Given the description of an element on the screen output the (x, y) to click on. 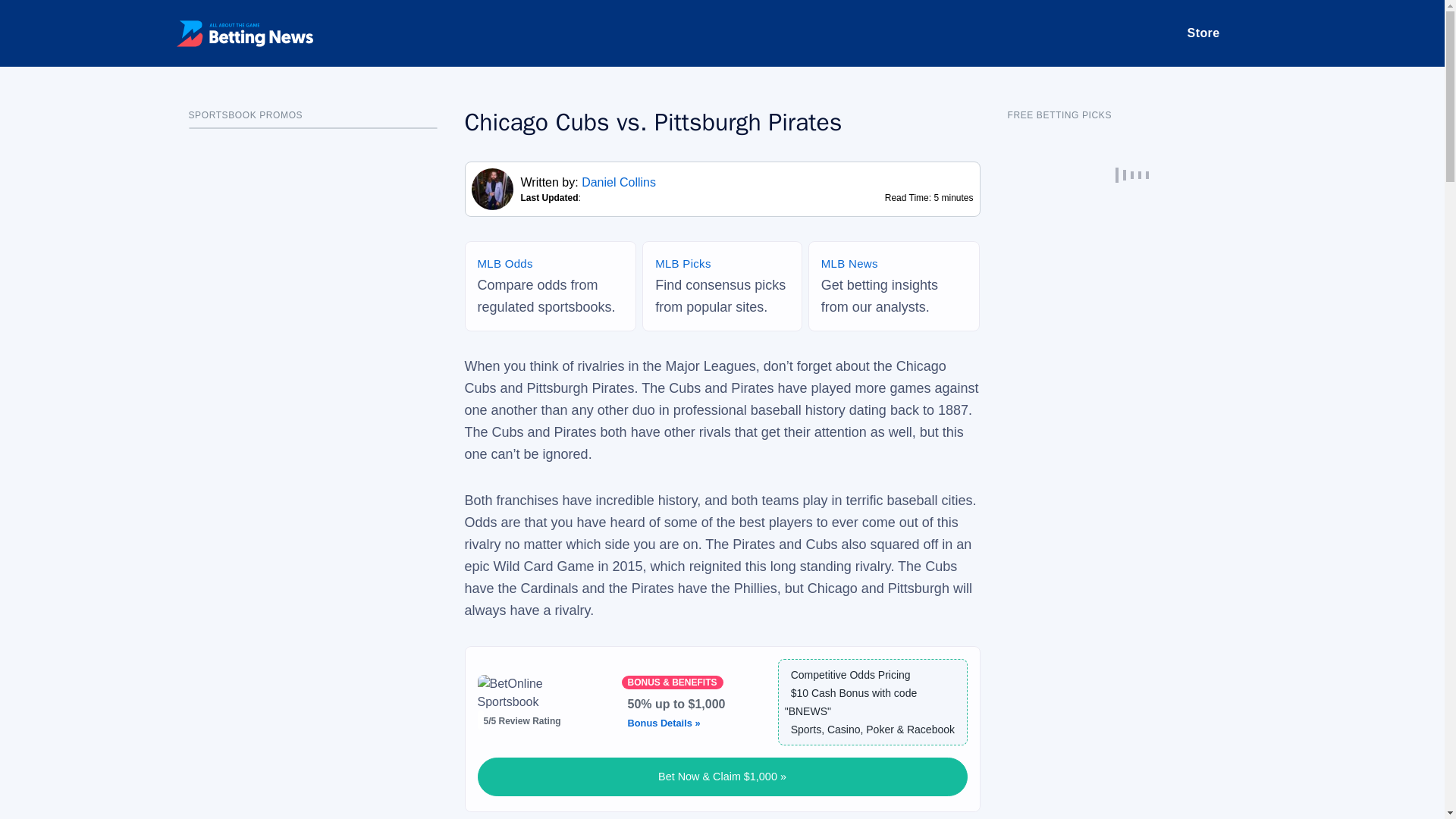
MLB Odds (504, 263)
MLB Picks (683, 263)
Daniel Collins (618, 182)
Betting News (244, 32)
Competitive Odds Pricing (847, 674)
MLB News (849, 263)
Store (1202, 33)
